Given the description of an element on the screen output the (x, y) to click on. 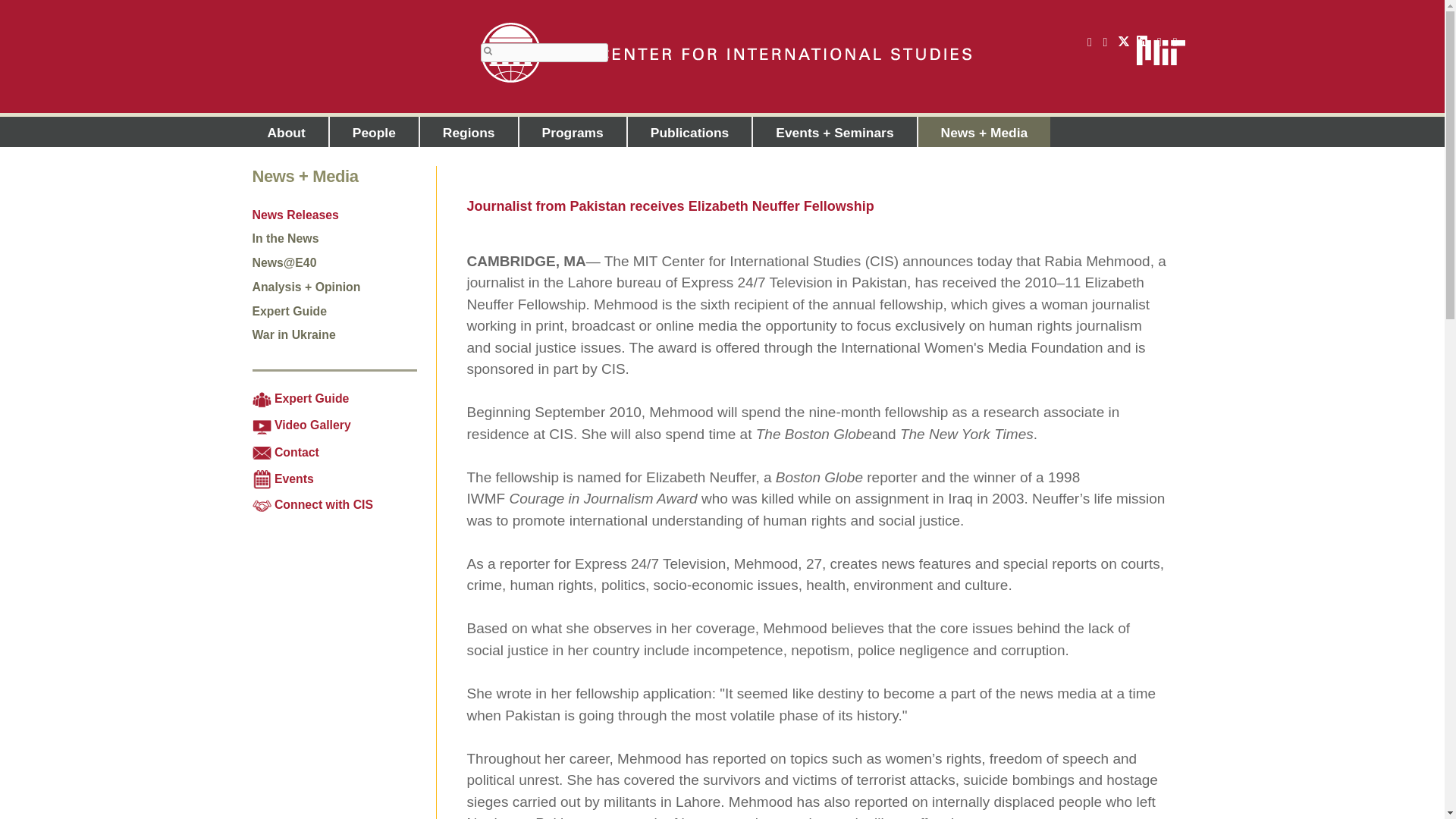
Home page (725, 52)
People (374, 132)
Regions (469, 132)
About (285, 132)
Programs (572, 132)
Enter the terms you wish to search for. (544, 53)
Publications (689, 132)
Search (488, 50)
Search (488, 50)
